Given the description of an element on the screen output the (x, y) to click on. 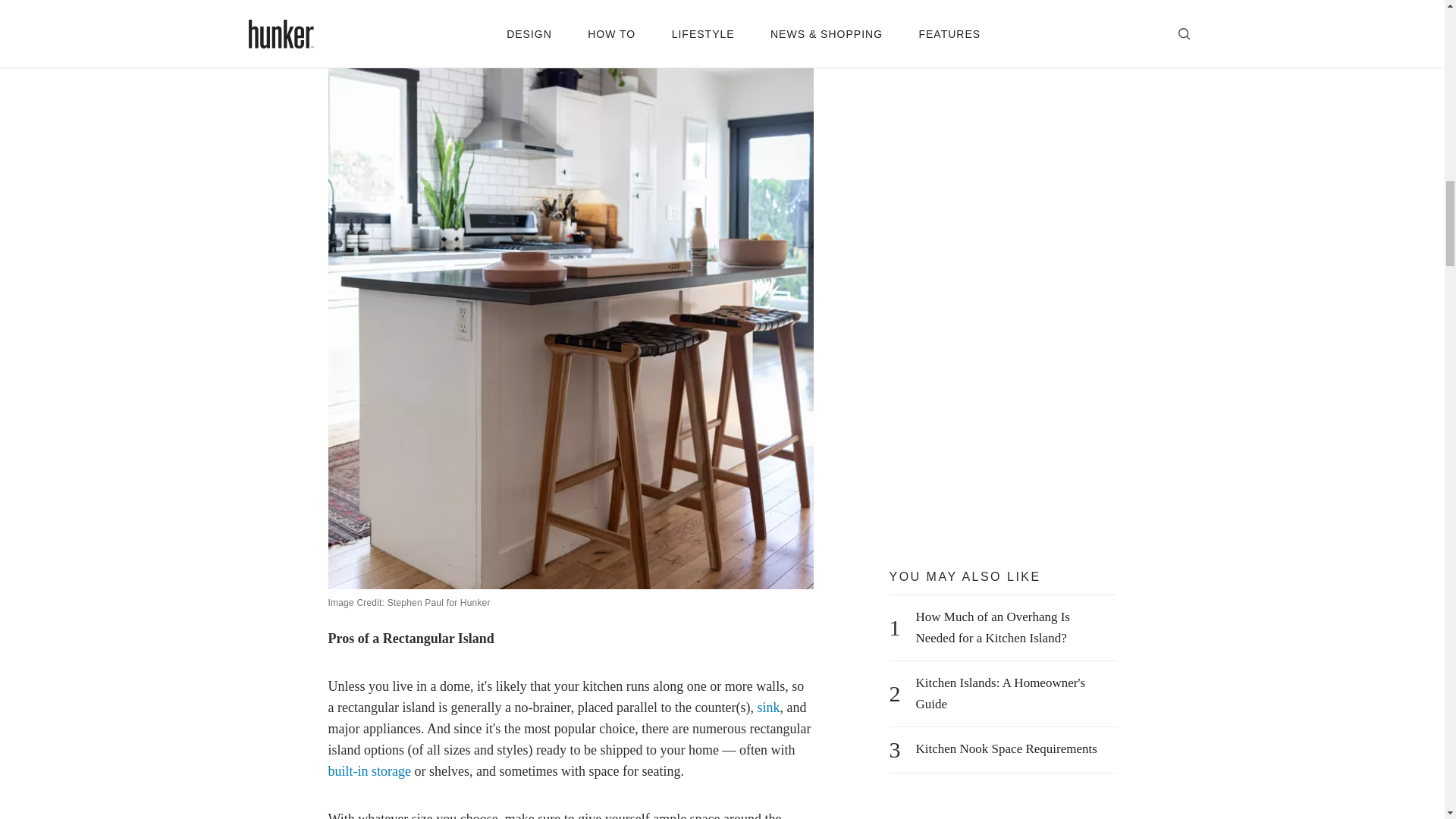
Kitchen Islands: A Homeowner's Guide (1012, 693)
Kitchen Nook Space Requirements (1006, 749)
How to Measure Ductwork (986, 26)
How Much of an Overhang Is Needed for a Kitchen Island? (1012, 627)
